Given the description of an element on the screen output the (x, y) to click on. 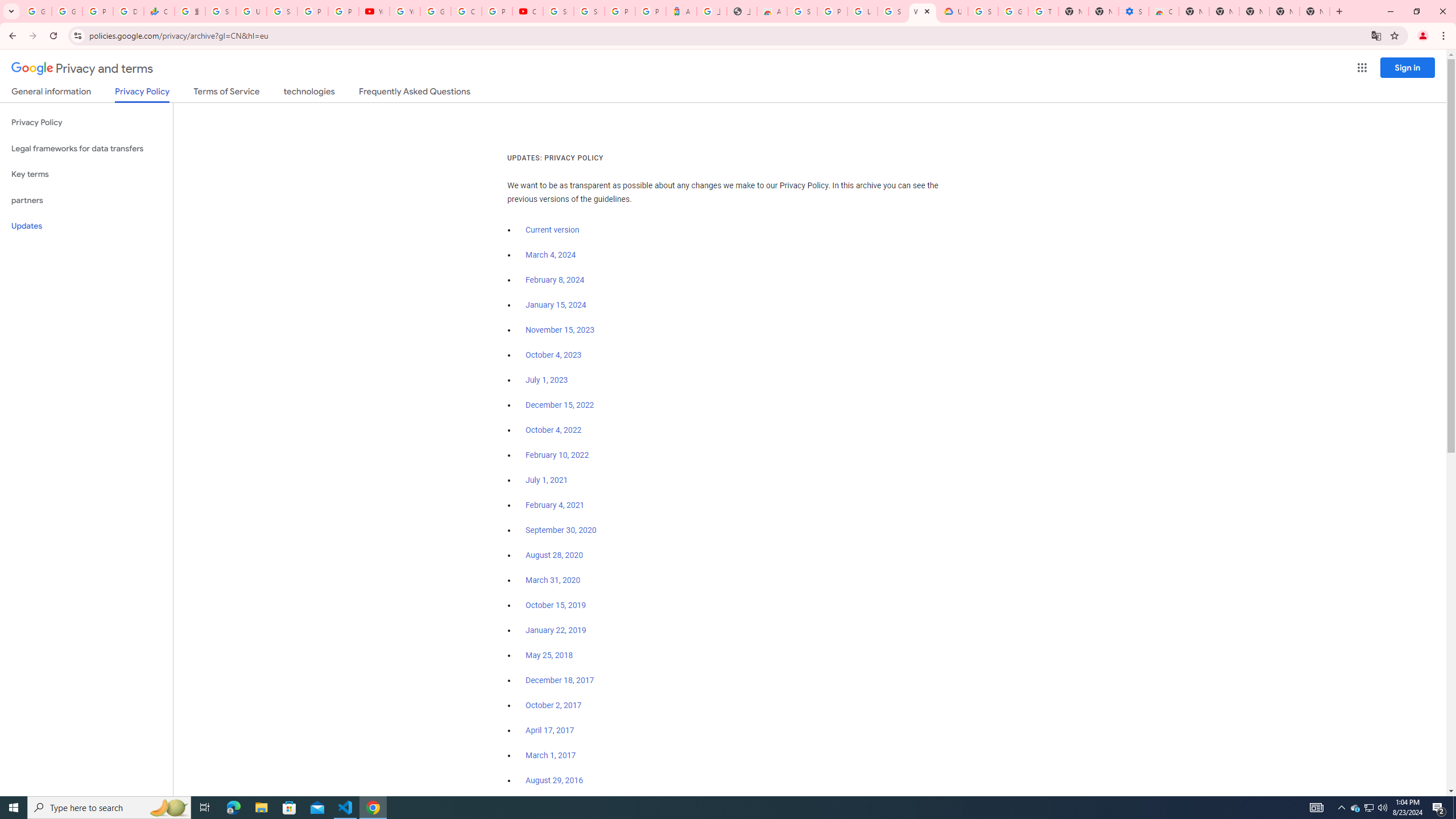
February 10, 2022 (557, 455)
Google Account Help (1012, 11)
August 28, 2020 (553, 555)
Current version (552, 230)
October 2, 2017 (553, 705)
Sign in - Google Accounts (558, 11)
Settings - Accessibility (1133, 11)
March 4, 2024 (550, 255)
Google Apps (1362, 67)
